Given the description of an element on the screen output the (x, y) to click on. 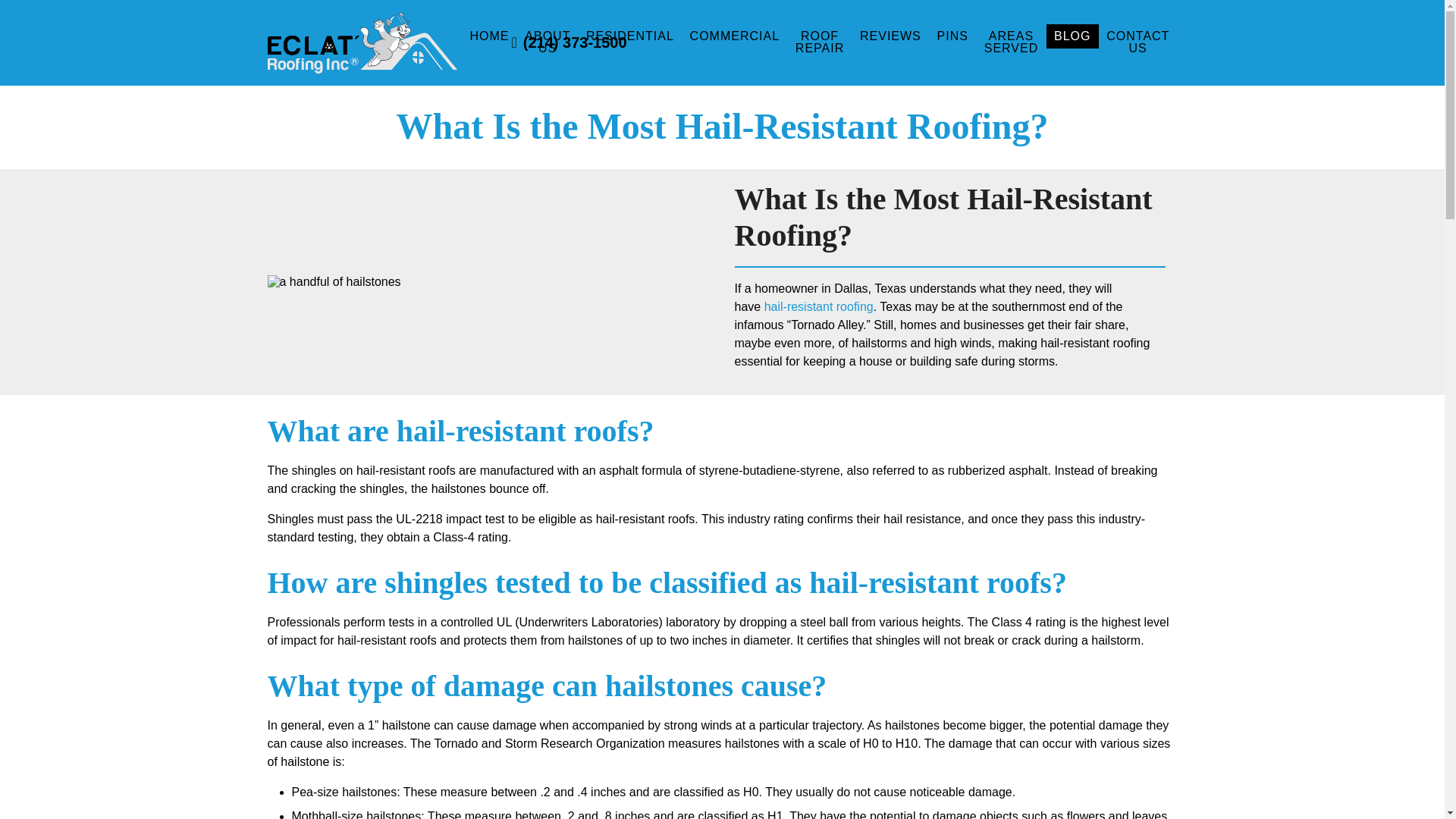
Go to Home (288, 72)
